Given the description of an element on the screen output the (x, y) to click on. 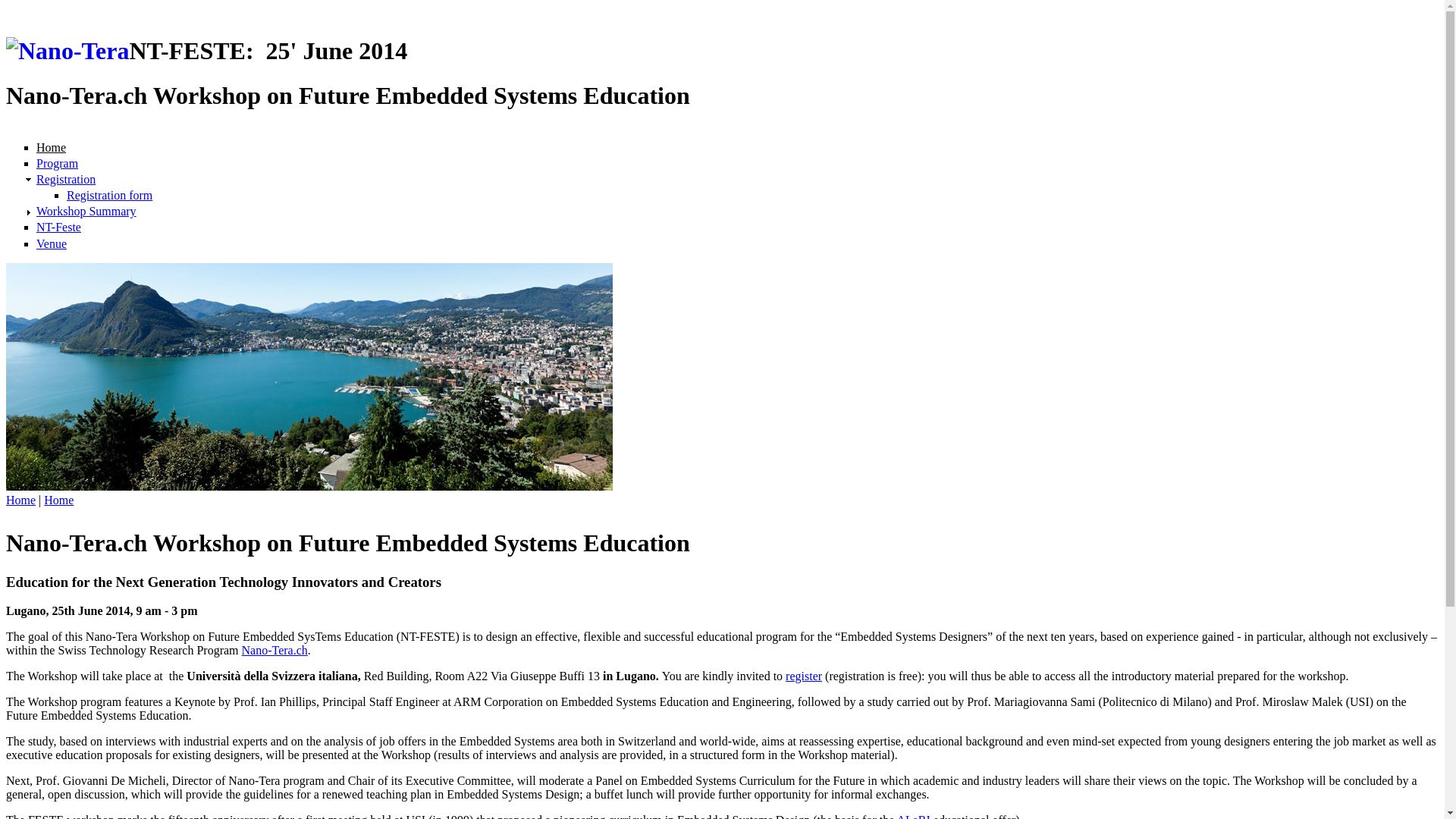
Venue Element type: text (51, 243)
Home Element type: text (50, 147)
NT-Feste Element type: text (58, 226)
Registration Element type: text (65, 178)
Nano-Tera.ch Element type: text (274, 649)
Nano-Tera Element type: hover (67, 51)
Home Element type: text (20, 499)
Registration form Element type: text (109, 194)
Workshop Summary Element type: text (86, 210)
register Element type: text (803, 675)
Home Element type: text (58, 499)
Program Element type: text (57, 162)
